Given the description of an element on the screen output the (x, y) to click on. 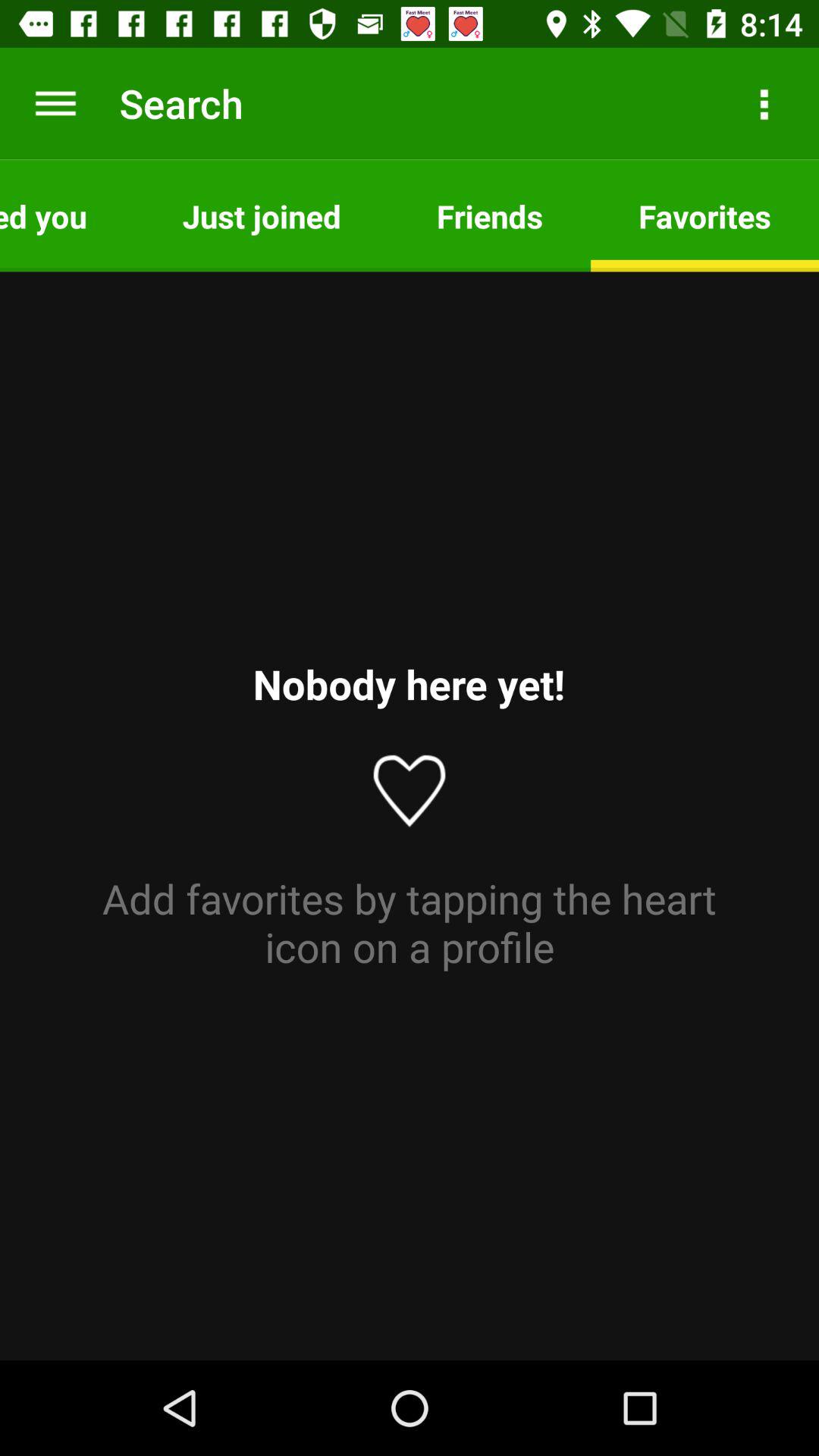
choose icon to the left of friends icon (261, 215)
